Given the description of an element on the screen output the (x, y) to click on. 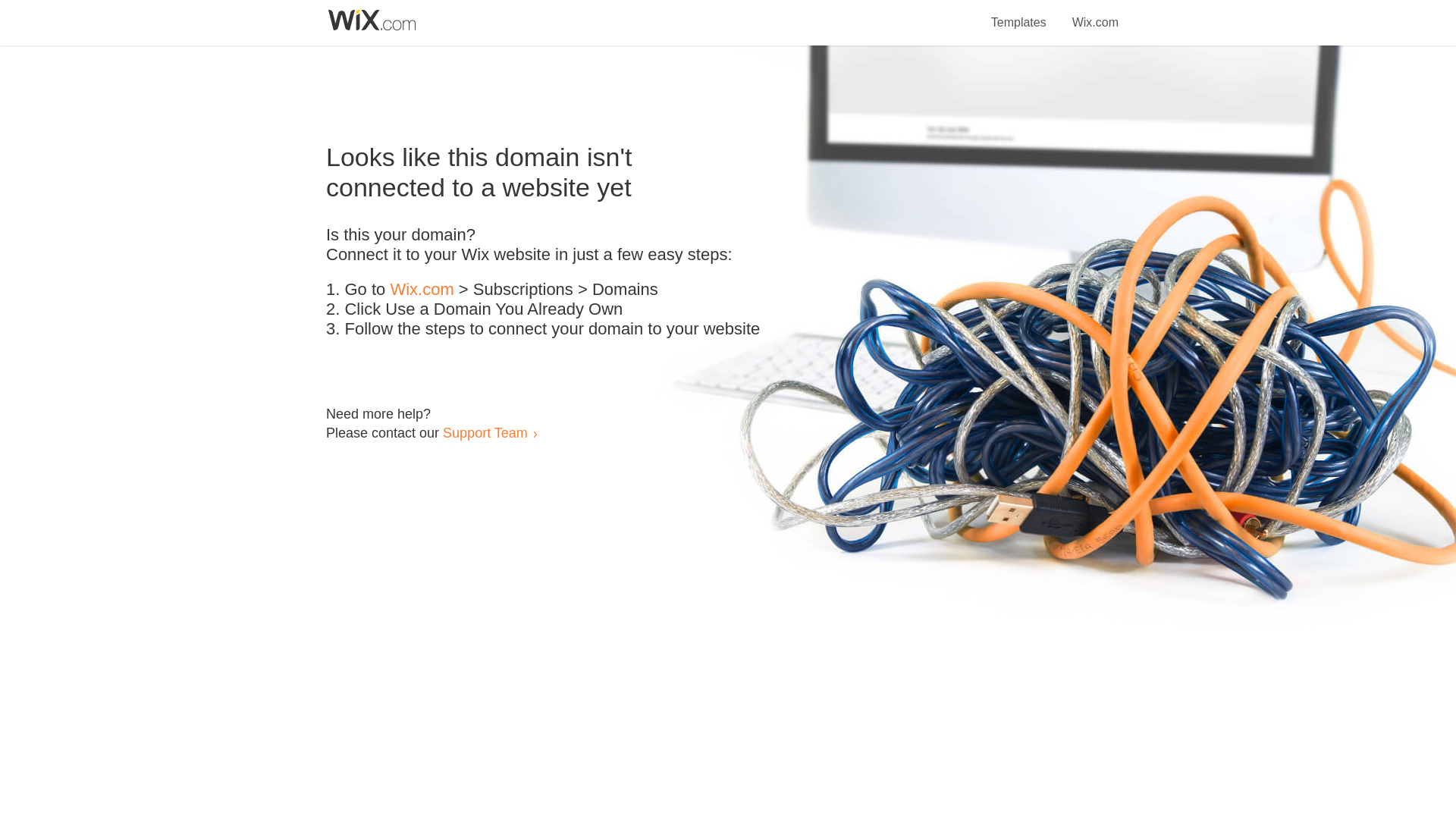
Templates (1018, 14)
Wix.com (421, 289)
Wix.com (1095, 14)
Support Team (484, 432)
